Given the description of an element on the screen output the (x, y) to click on. 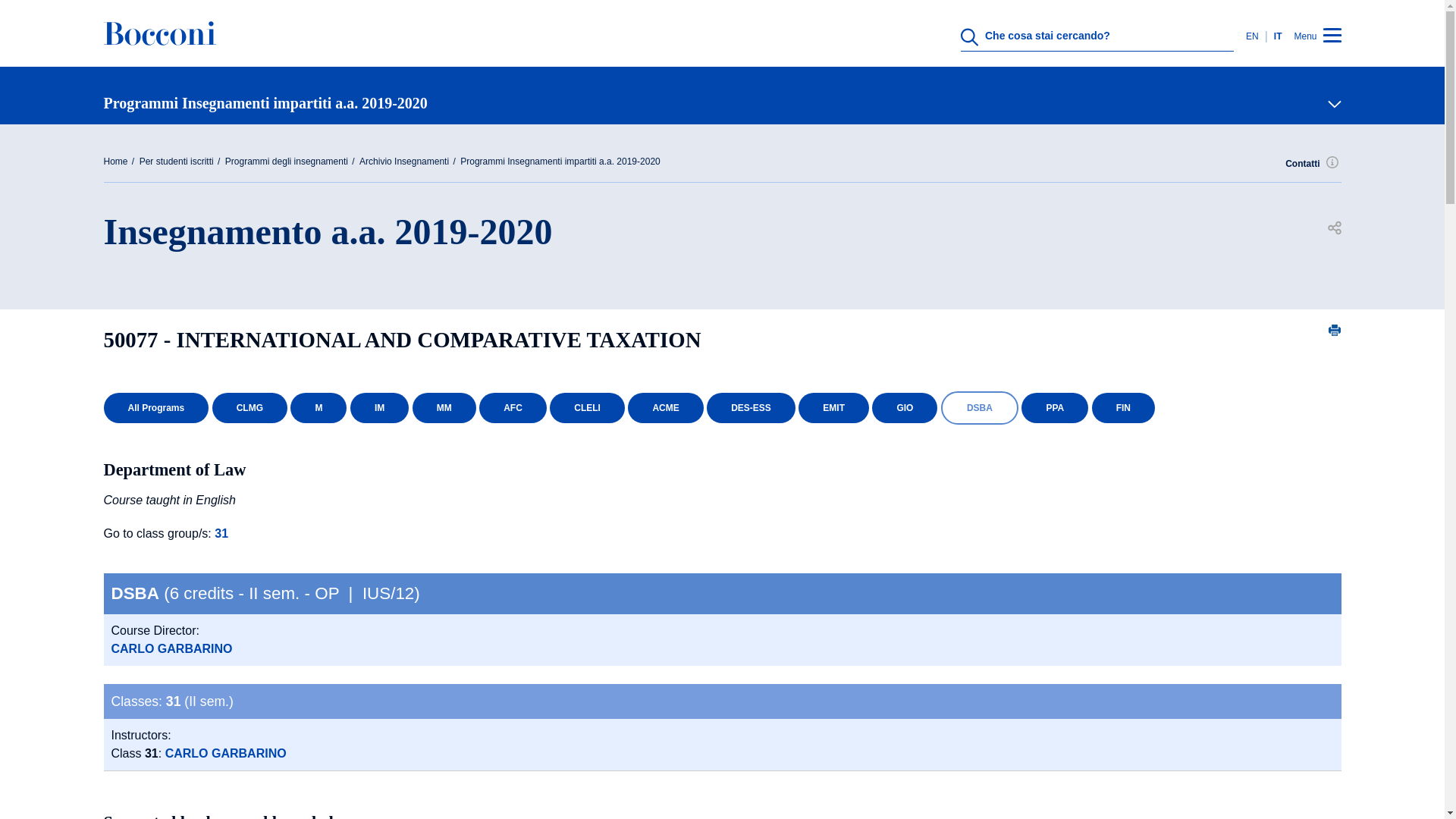
English (1255, 36)
Entrare in Bocconi (716, 625)
Italian (1275, 36)
Campus (716, 551)
EN (1255, 36)
Corsi di studio (716, 402)
Chi siamo (716, 328)
IT (1275, 36)
Docenti e Ricerca (716, 476)
Home (159, 43)
